Given the description of an element on the screen output the (x, y) to click on. 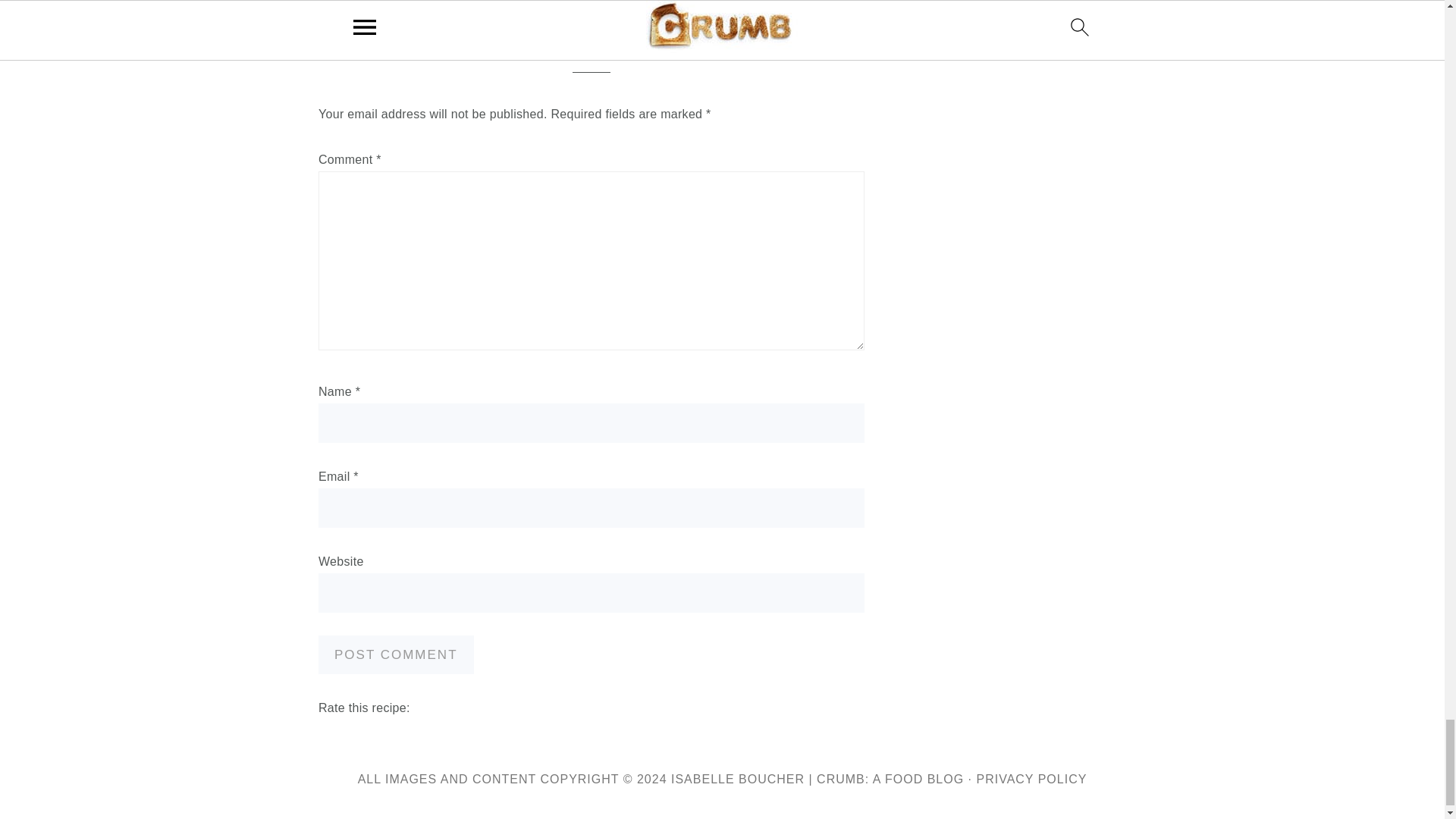
Post Comment (396, 654)
